Given the description of an element on the screen output the (x, y) to click on. 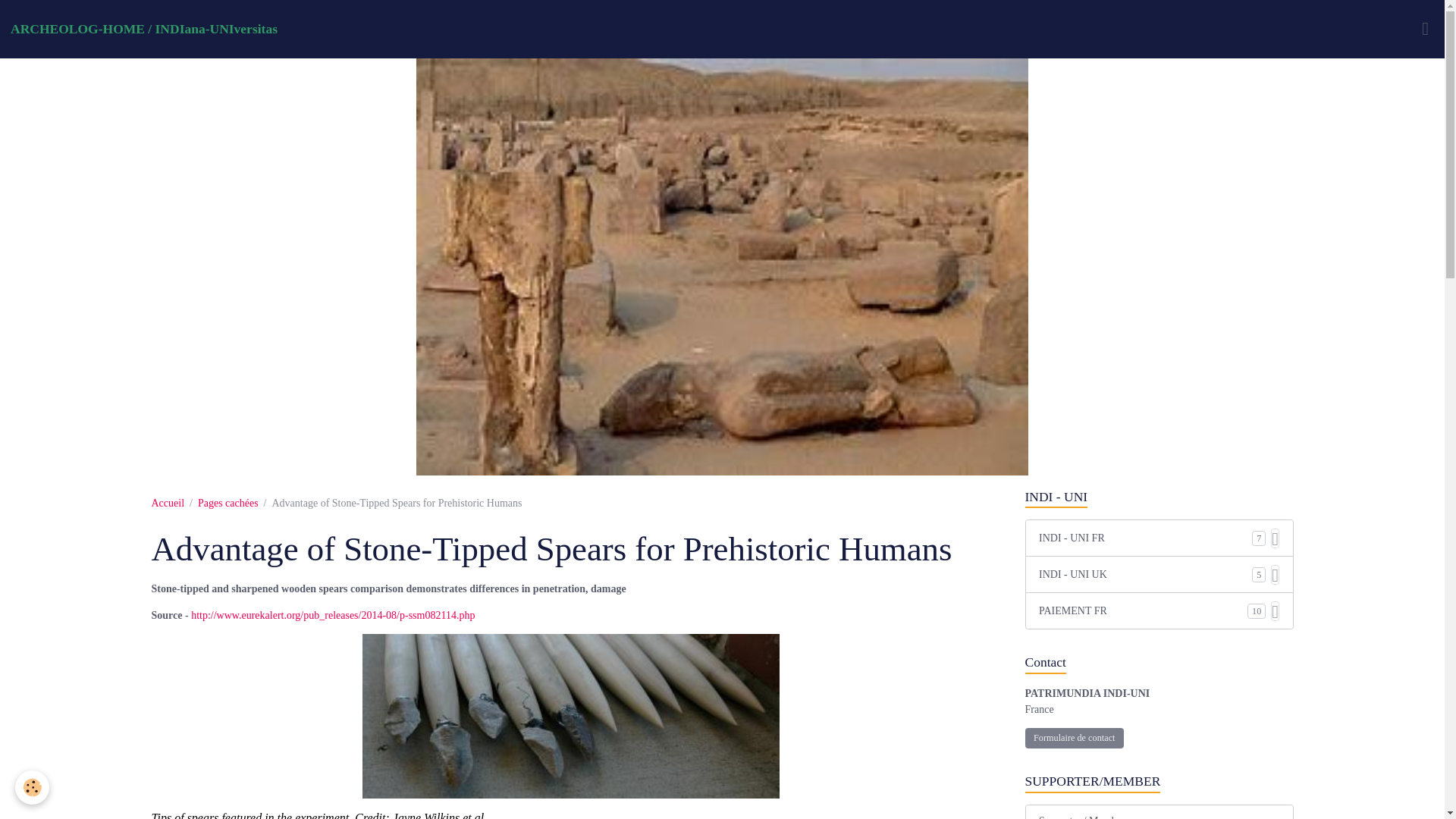
INDI - UNI FR (1145, 537)
Accueil (167, 502)
PAIEMENT FR (1143, 610)
INDI - UNI (1159, 496)
INDI - UNI UK (1145, 574)
Formulaire de contact (1074, 738)
